Given the description of an element on the screen output the (x, y) to click on. 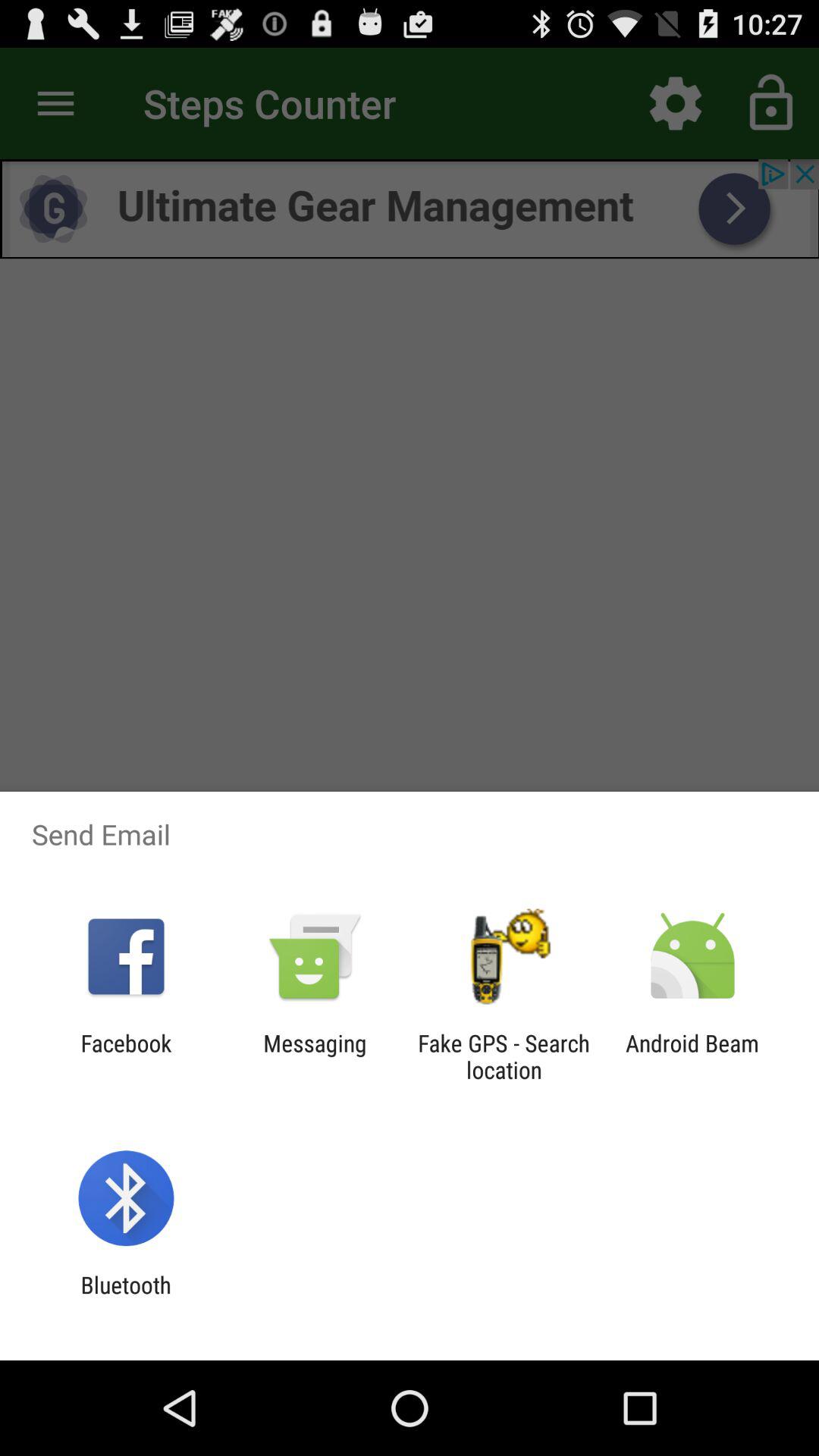
tap item next to android beam (503, 1056)
